Given the description of an element on the screen output the (x, y) to click on. 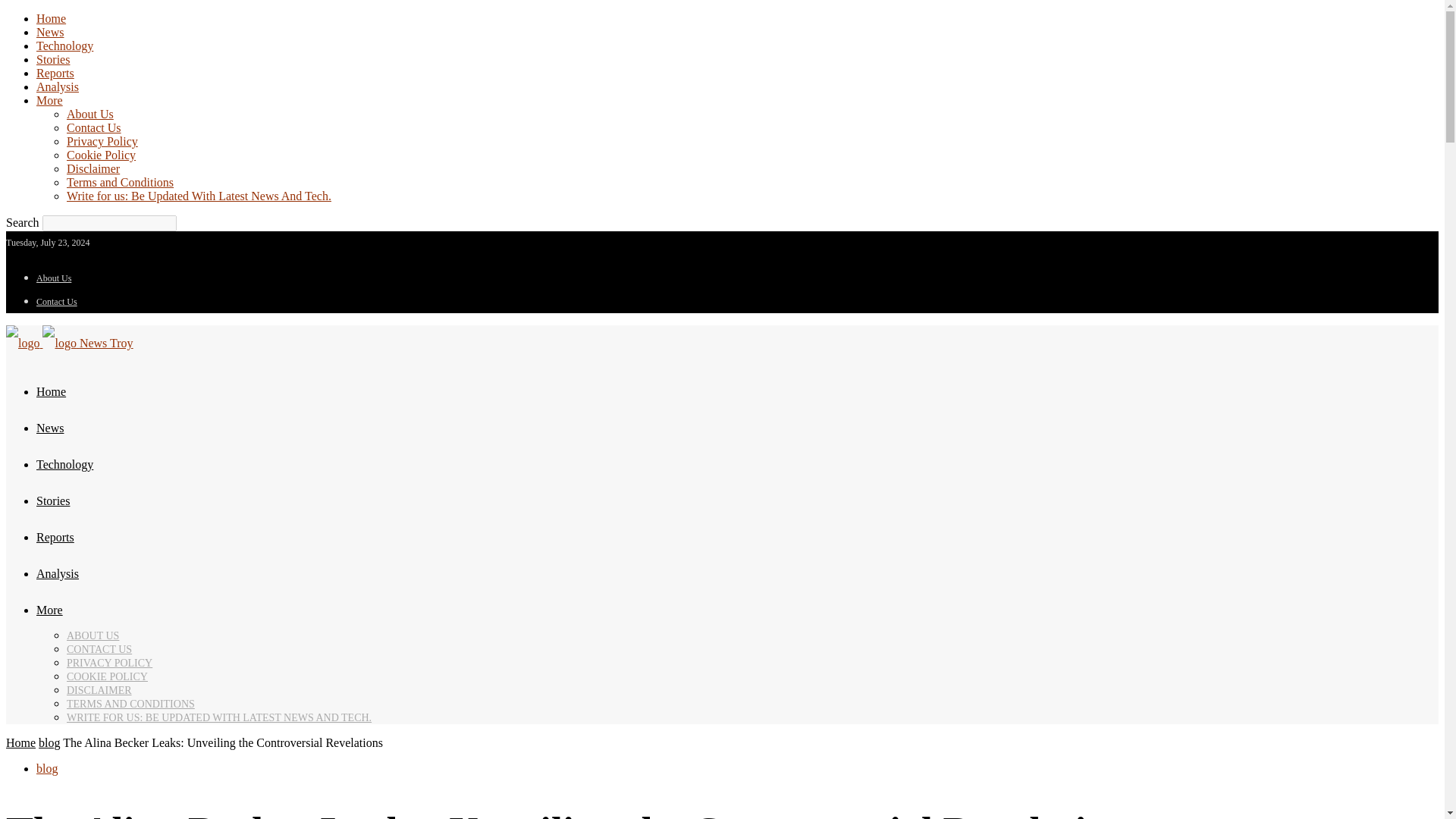
WRITE FOR US: BE UPDATED WITH LATEST NEWS AND TECH. (218, 717)
Home (19, 742)
Stories (52, 59)
blog (47, 768)
Home (50, 18)
DISCLAIMER (99, 690)
Stories (52, 500)
Privacy Policy (102, 141)
COOKIE POLICY (107, 676)
Technology (64, 463)
Technology (64, 45)
CONTACT US (99, 649)
ABOUT US (92, 635)
Write for us: Be Updated With Latest News And Tech. (198, 195)
View all posts in blog (49, 742)
